Given the description of an element on the screen output the (x, y) to click on. 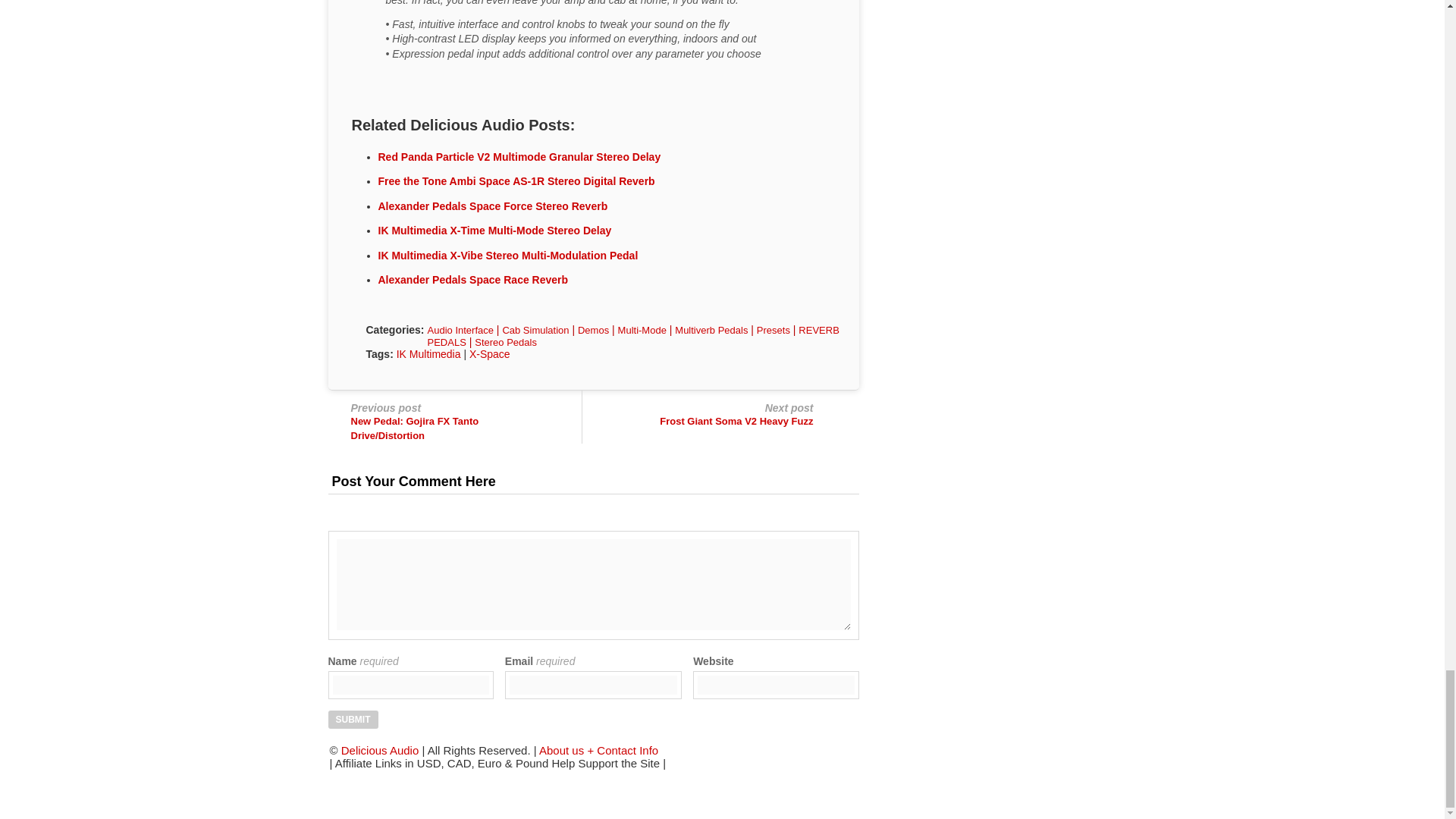
View all posts tagged X-Space (489, 354)
View all posts tagged IK Multimedia (428, 354)
